Given the description of an element on the screen output the (x, y) to click on. 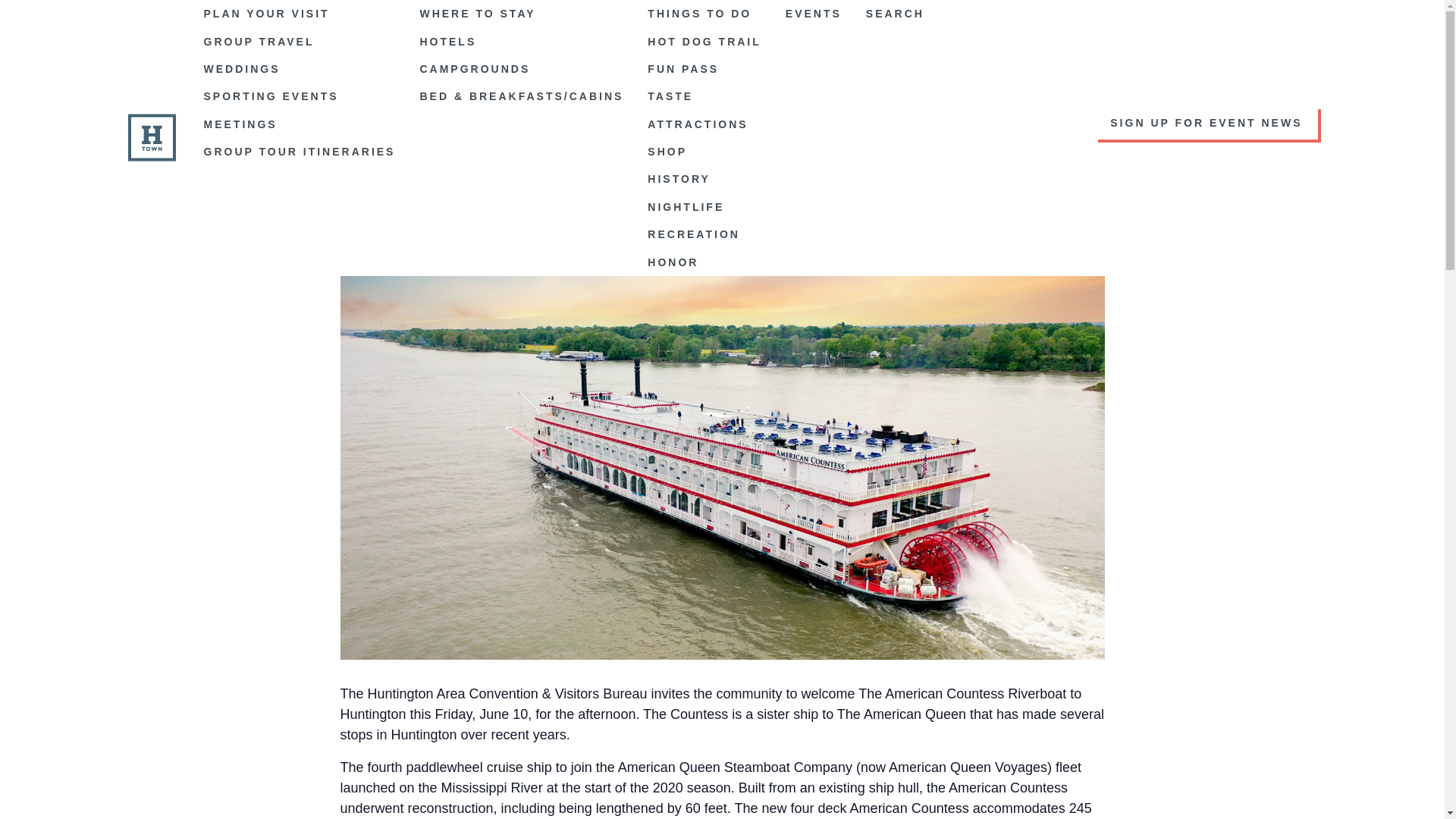
SIGN UP FOR EVENT NEWS (1205, 122)
SHOP (703, 151)
RECREATION (703, 234)
WEDDINGS (298, 68)
THINGS TO DO (703, 13)
HOTELS (520, 40)
GROUP TRAVEL (298, 40)
FUN PASS (703, 68)
SIGN UP FOR EVENT NEWS (1126, 122)
CAMPGROUNDS (520, 68)
